Given the description of an element on the screen output the (x, y) to click on. 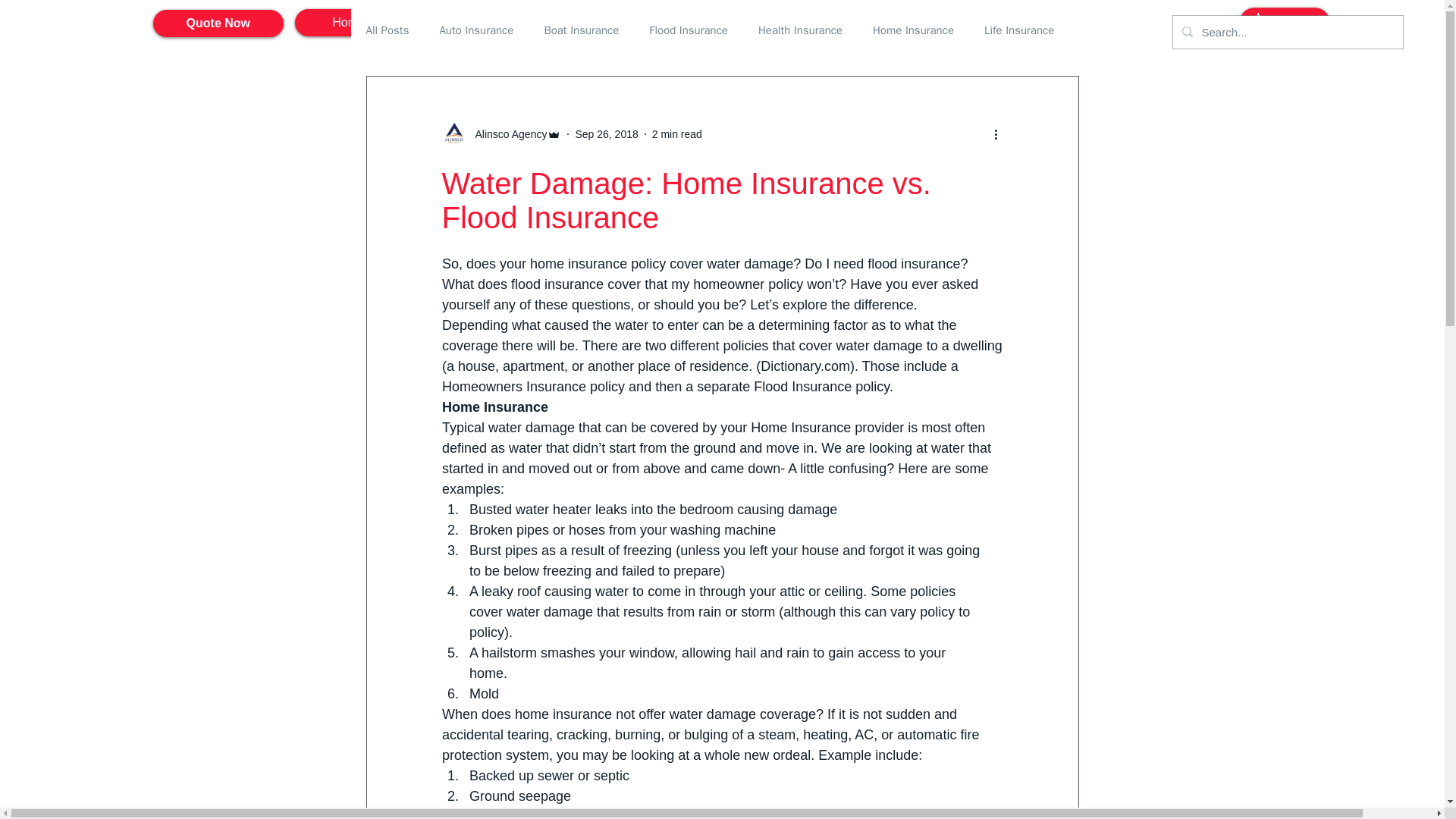
2 min read (676, 133)
Home Insurance (912, 29)
Auto Insurance (476, 29)
Sep 26, 2018 (606, 133)
Health Insurance (800, 29)
Home (349, 22)
Flood Insurance (688, 29)
Alinsco Agency (506, 133)
Quote Now (217, 22)
Boat Insurance (580, 29)
